Given the description of an element on the screen output the (x, y) to click on. 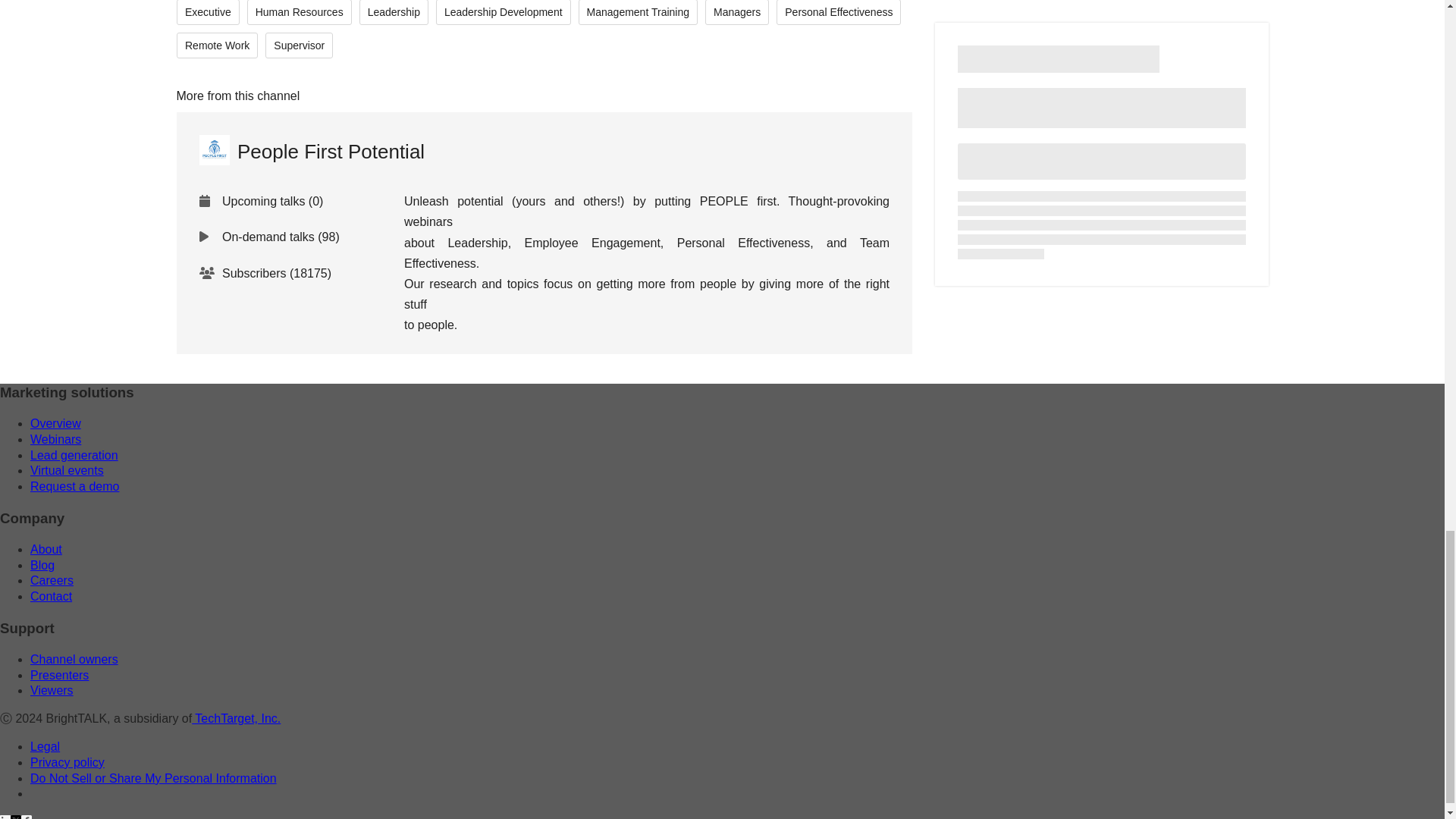
Remote Work (216, 45)
Management Training (637, 12)
Human Resources (298, 12)
People First Potential (310, 151)
Leadership (393, 12)
Managers (736, 12)
Executive (207, 12)
Leadership Development (502, 12)
Personal Effectiveness (838, 12)
Visit People First Potential 's channel (310, 151)
